Given the description of an element on the screen output the (x, y) to click on. 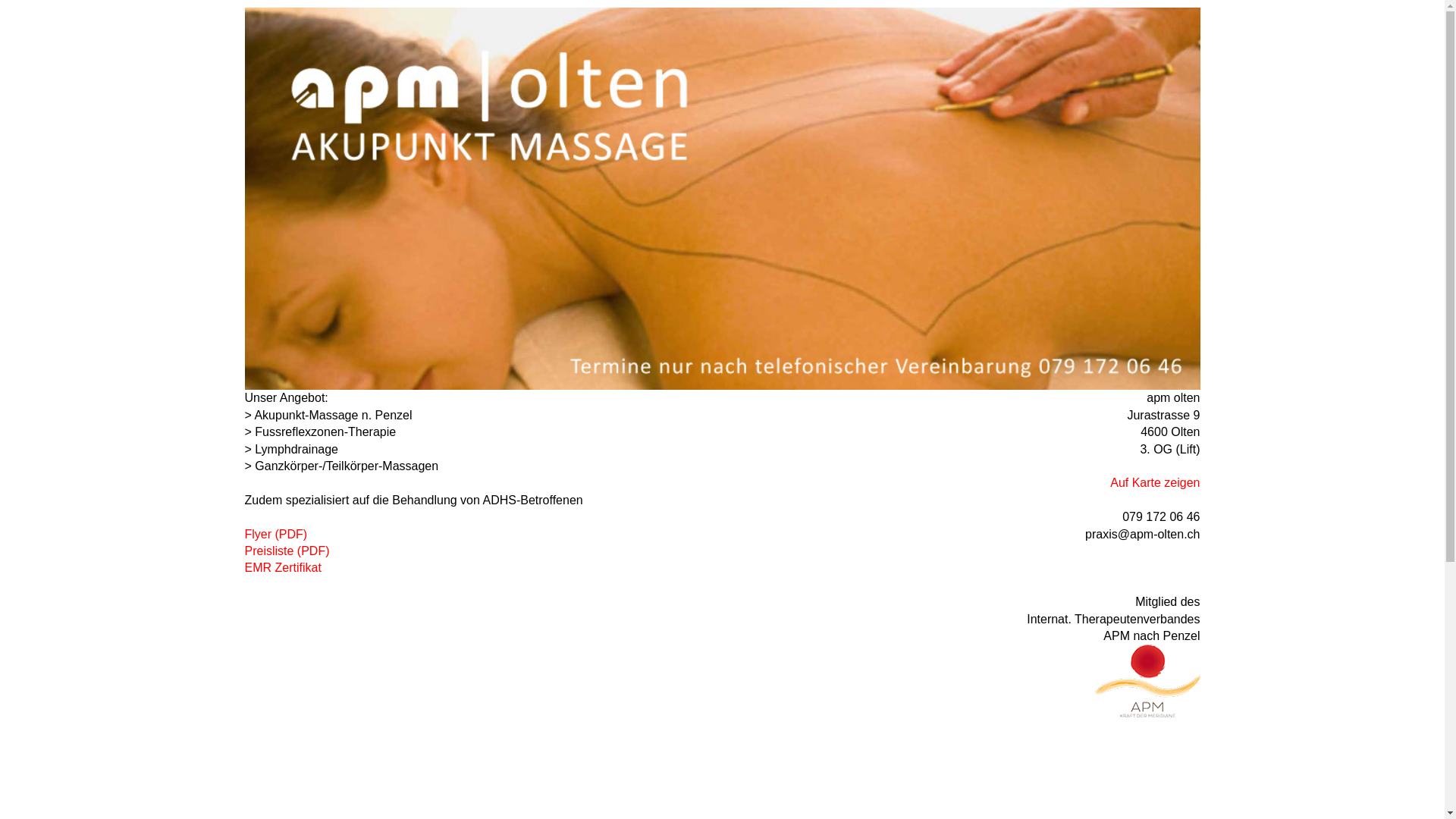
Auf Karte zeigen Element type: text (1154, 482)
Preisliste (PDF) Element type: text (286, 550)
Flyer (PDF) Element type: text (275, 533)
EMR Zertifikat Element type: text (282, 567)
